Given the description of an element on the screen output the (x, y) to click on. 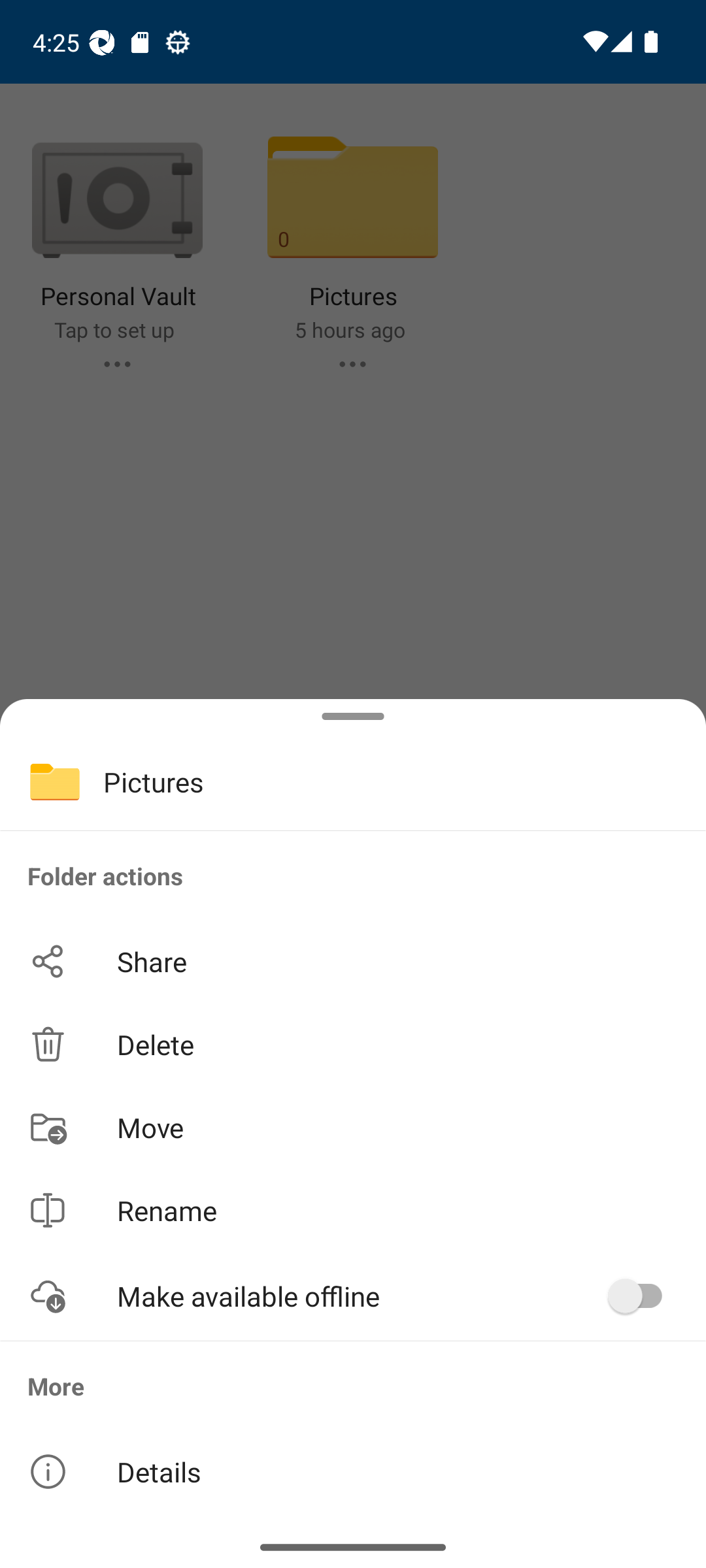
Share button Share (353, 961)
Delete button Delete (353, 1044)
Move button Move (353, 1126)
Rename button Rename (353, 1209)
Make offline operation (641, 1295)
Details button Details (353, 1471)
